Given the description of an element on the screen output the (x, y) to click on. 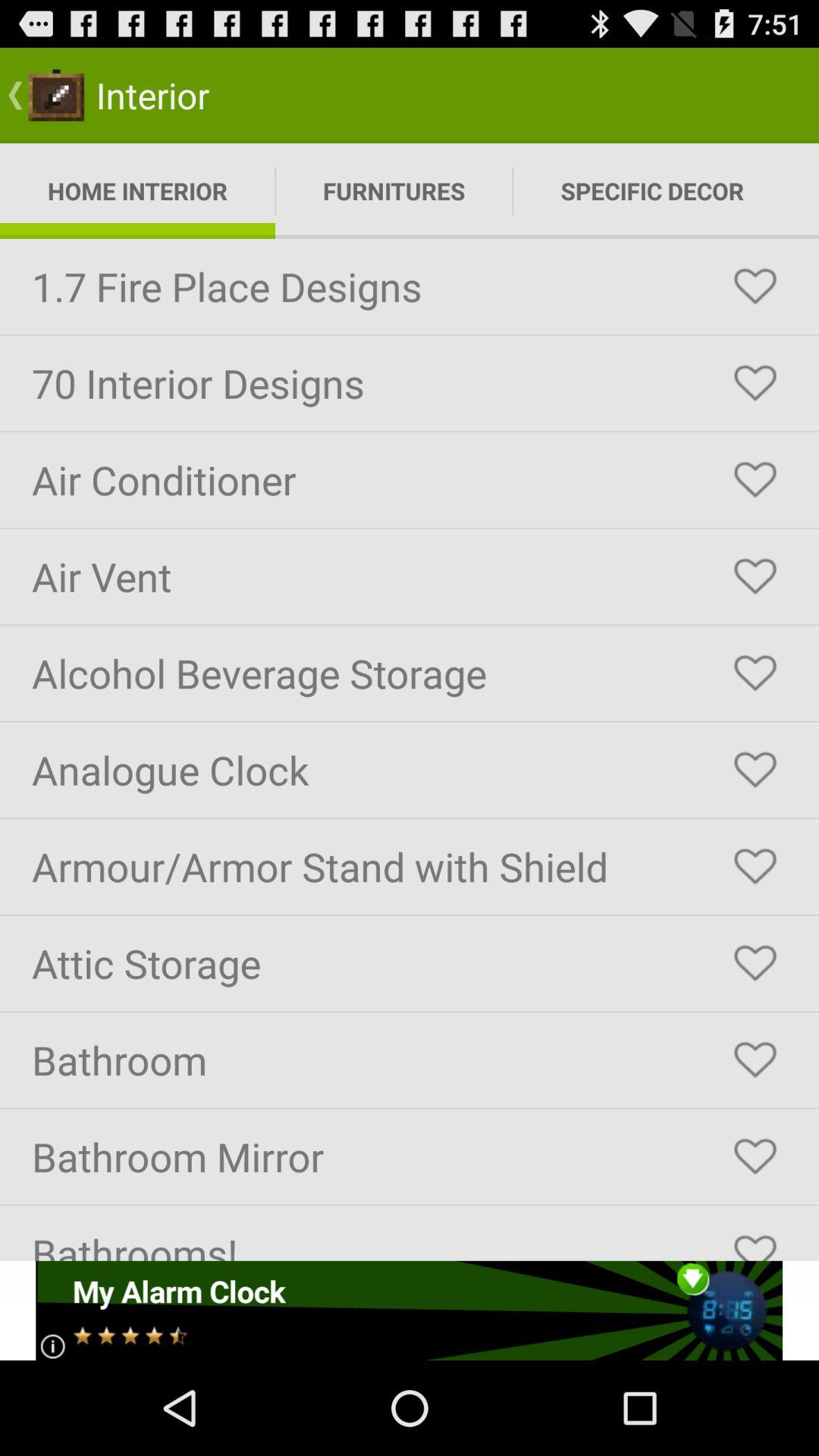
like the corresponding home interior (755, 286)
